Given the description of an element on the screen output the (x, y) to click on. 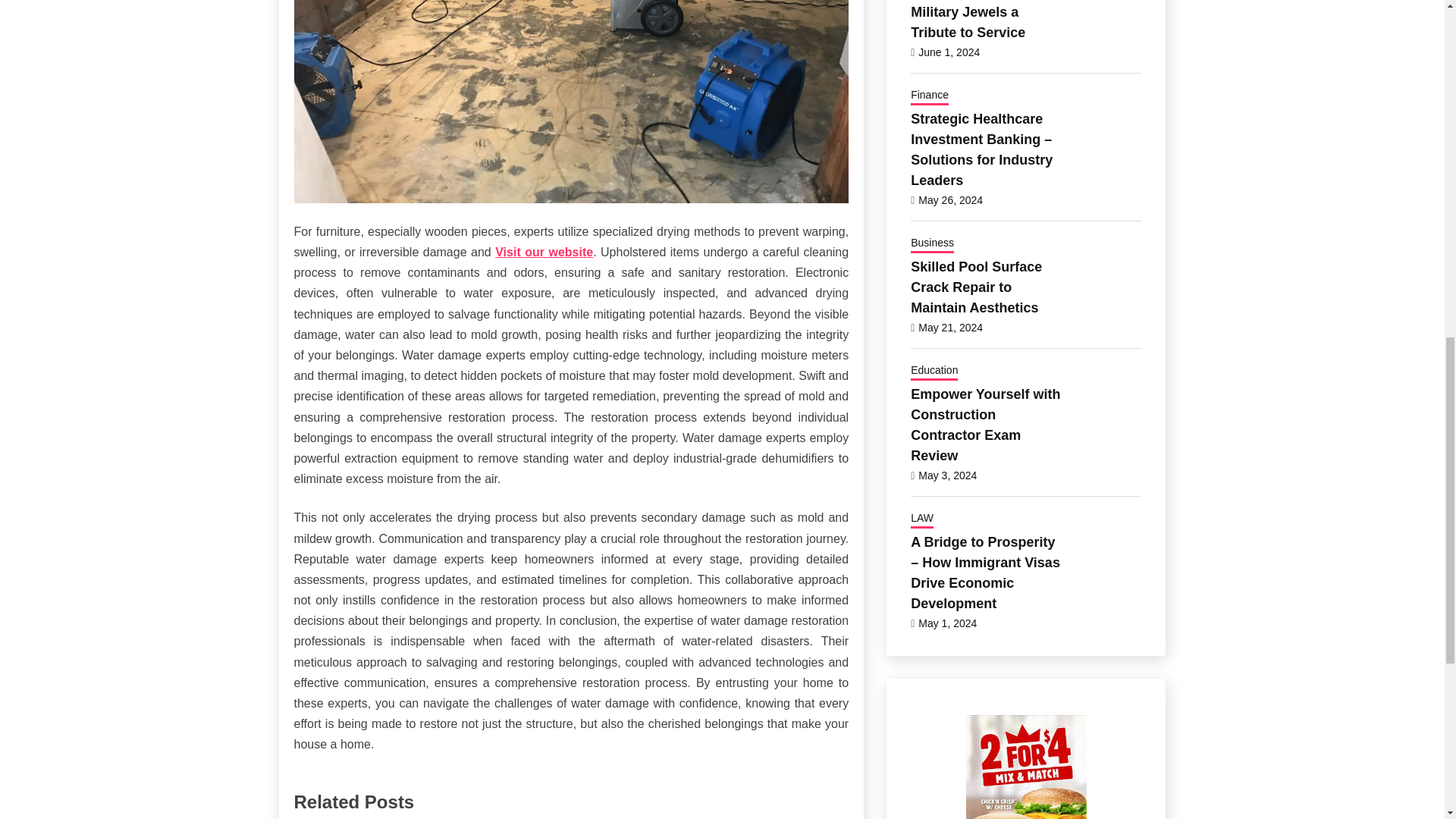
May 26, 2024 (950, 200)
June 1, 2024 (948, 51)
May 21, 2024 (950, 327)
The Elegance of Military Jewels a Tribute to Service (968, 20)
Business (932, 244)
Skilled Pool Surface Crack Repair to Maintain Aesthetics (976, 287)
Visit our website (543, 251)
Finance (930, 95)
